Given the description of an element on the screen output the (x, y) to click on. 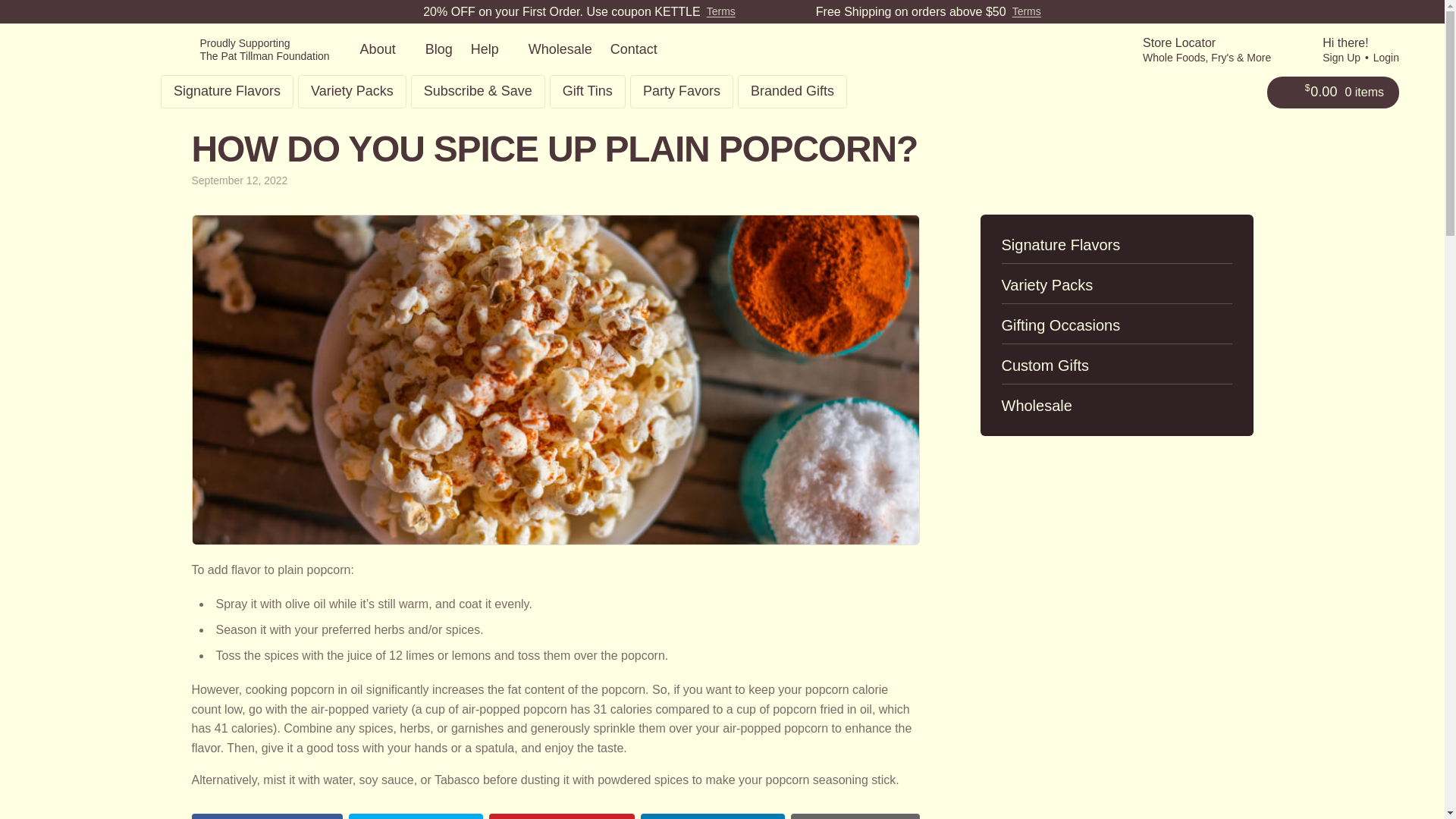
Kettle Heroes Popcorn - Gourmet Popcorn Crafted in Arizona (90, 73)
Twitter (416, 816)
Facebook (266, 816)
Pinterest (561, 816)
Branded Gifts (792, 91)
Login (1386, 57)
Help (490, 49)
Blog (438, 49)
Gift Tins (588, 91)
Signature Flavors (227, 91)
